Given the description of an element on the screen output the (x, y) to click on. 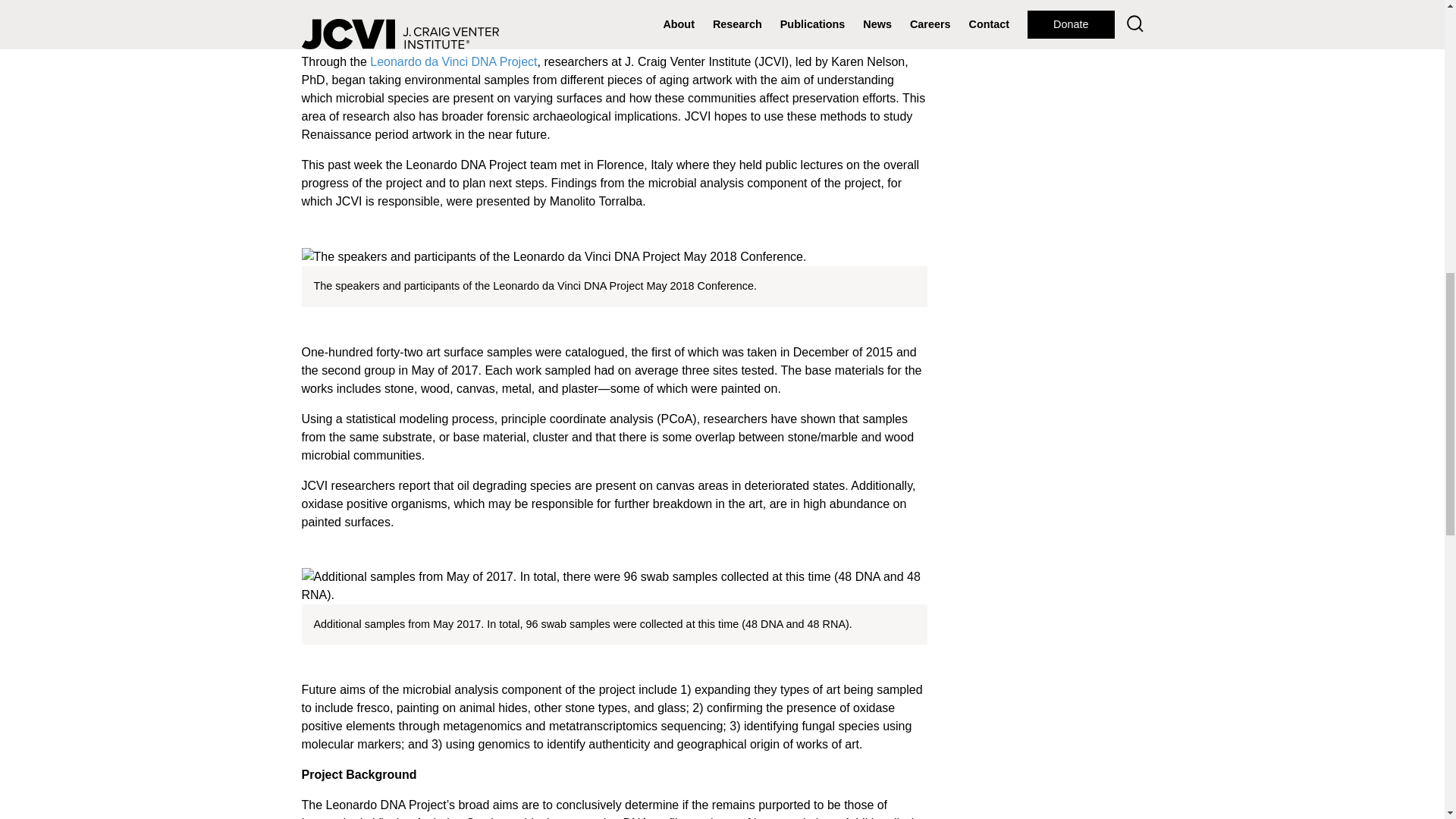
Leonardo da Vinci DNA Project (453, 61)
